Given the description of an element on the screen output the (x, y) to click on. 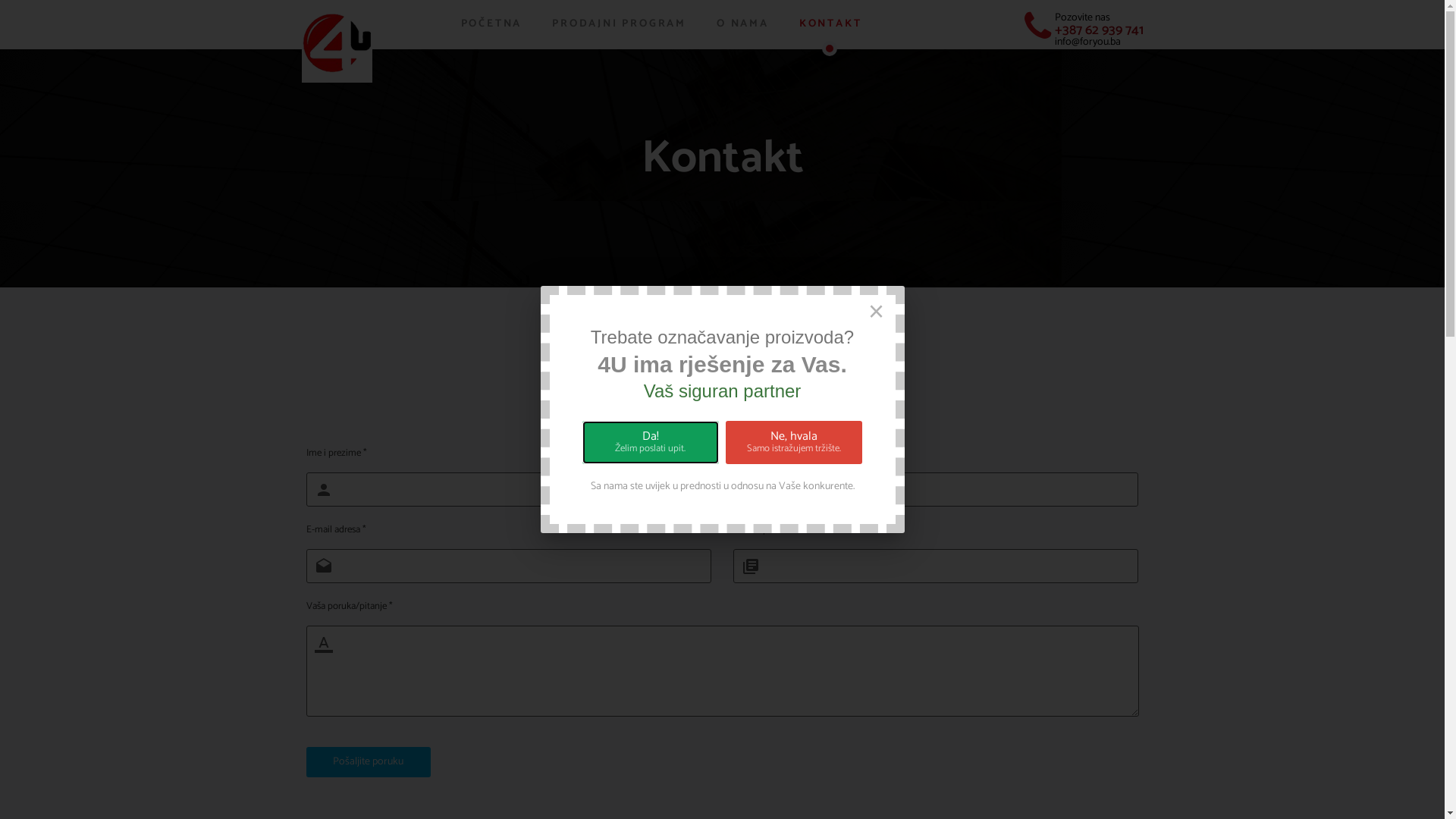
O NAMA Element type: text (742, 24)
info@foryou.ba Element type: text (1087, 41)
+387 62 939 741 Element type: text (1098, 29)
Pozovite nas Element type: text (1081, 17)
KONTAKT Element type: text (830, 24)
PRODAJNI PROGRAM Element type: text (618, 24)
